Given the description of an element on the screen output the (x, y) to click on. 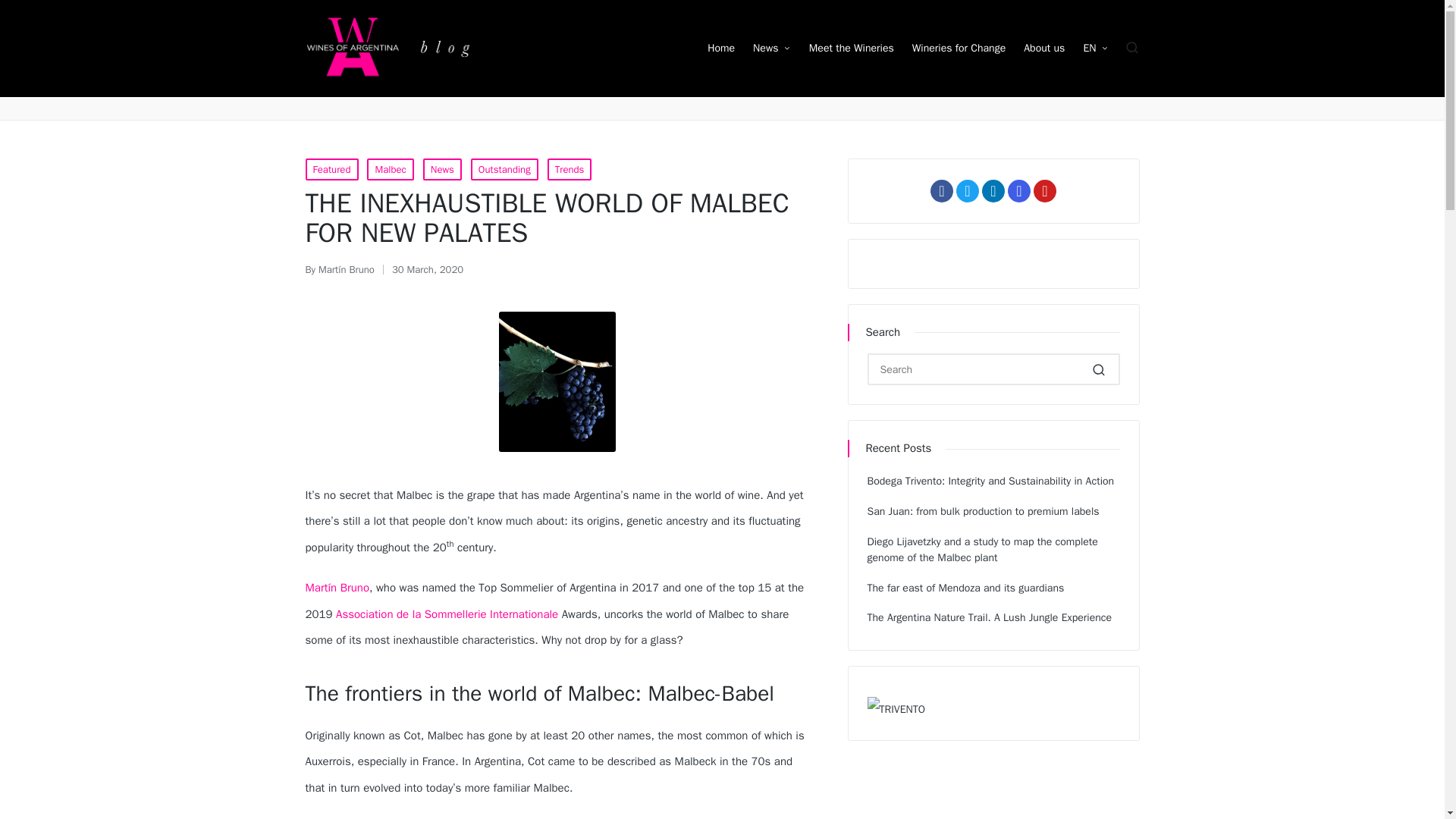
EN (1095, 47)
Twitter (967, 190)
Home (721, 47)
News (771, 47)
Facebook (941, 190)
Outstanding (504, 169)
LinkedIn (992, 190)
Association de la Sommellerie Internationale (446, 613)
Wineries for Change (959, 47)
TRIVENTO (896, 708)
Trends (569, 169)
Instagram (1018, 190)
News (442, 169)
YouTube (1045, 190)
Meet the Wineries (851, 47)
